Given the description of an element on the screen output the (x, y) to click on. 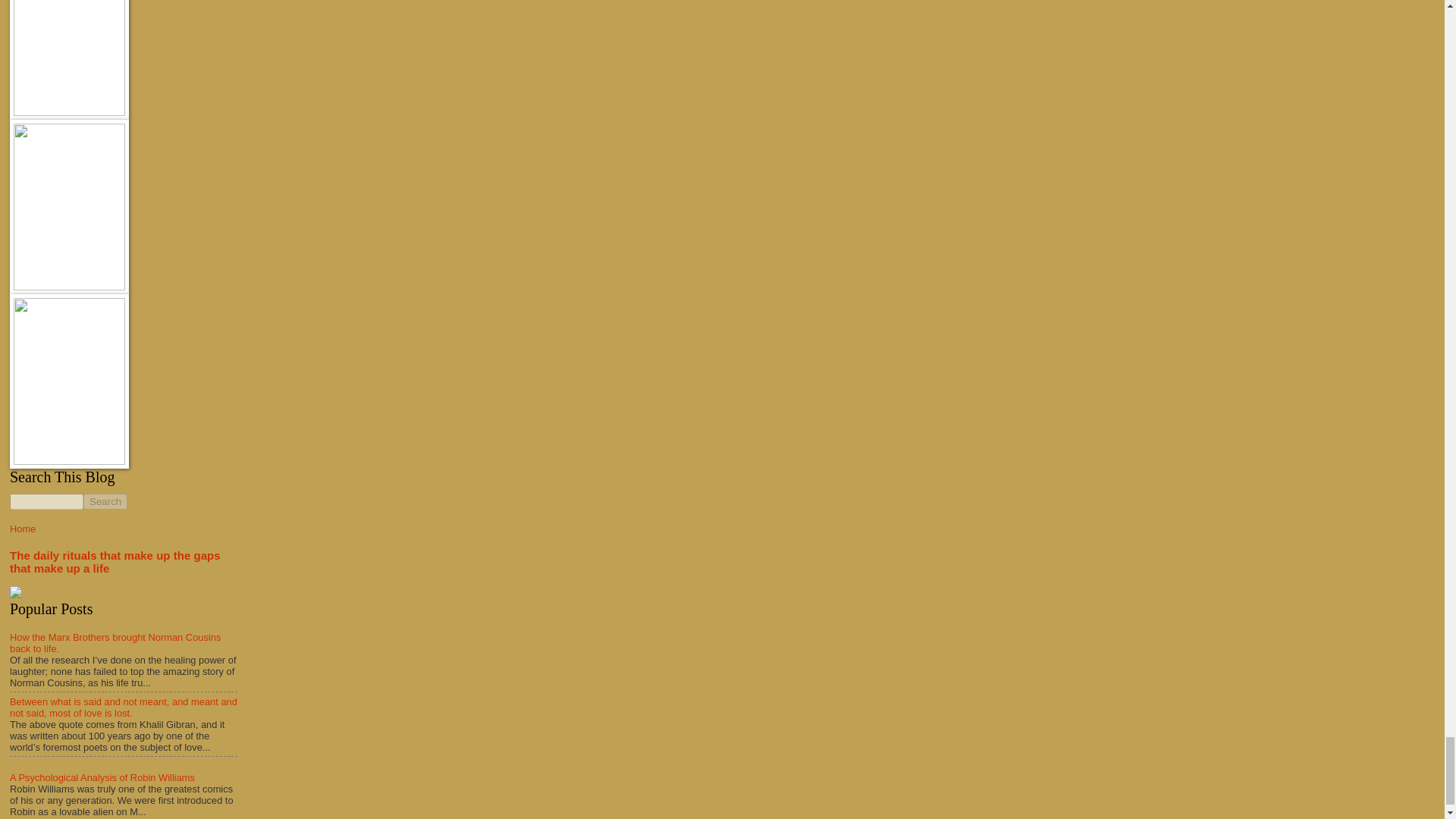
Search (105, 501)
search (46, 501)
search (105, 501)
Search (105, 501)
